Given the description of an element on the screen output the (x, y) to click on. 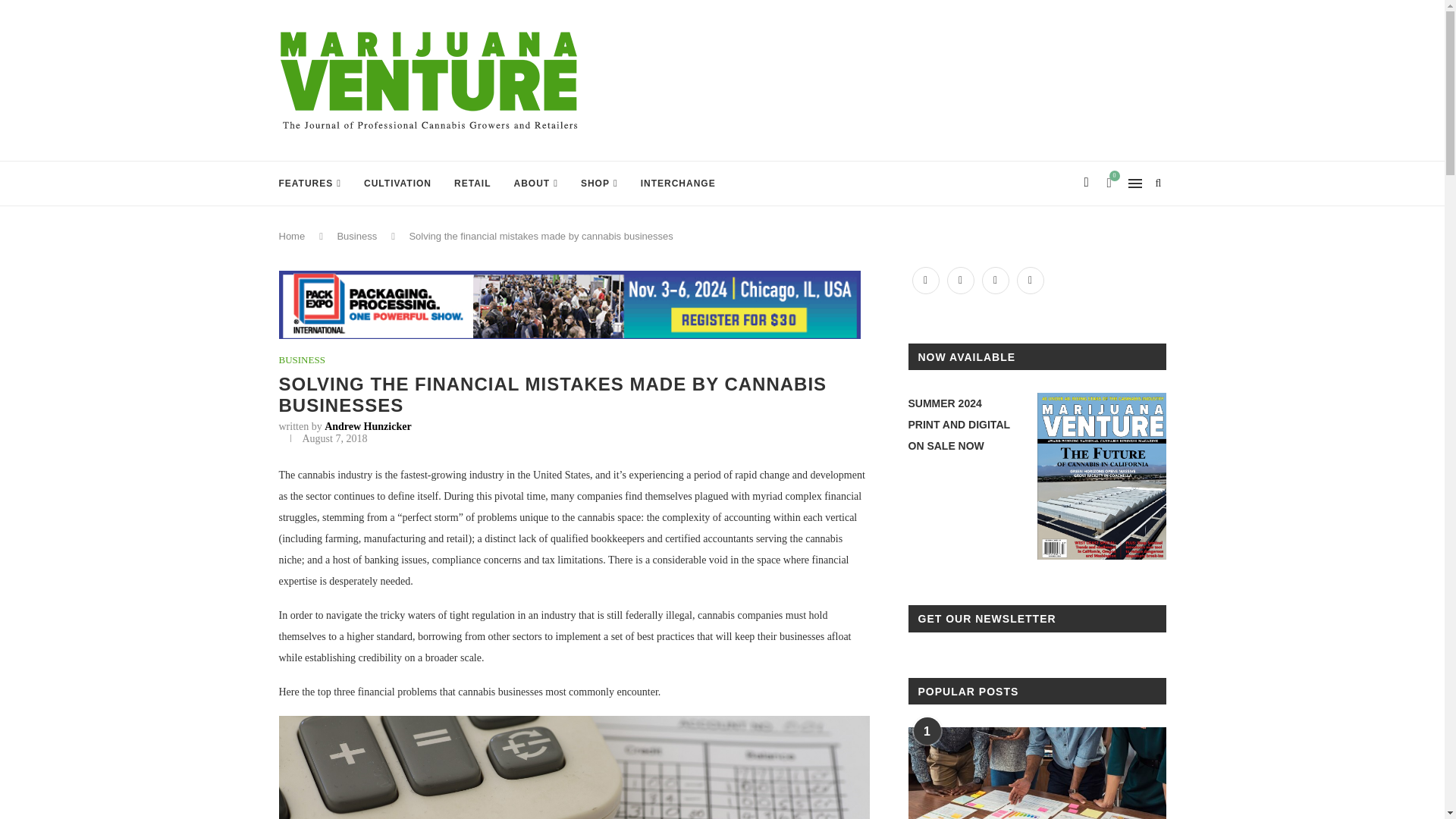
INTERCHANGE (678, 183)
ABOUT (535, 183)
FEATURES (310, 183)
CULTIVATION (397, 183)
